Given the description of an element on the screen output the (x, y) to click on. 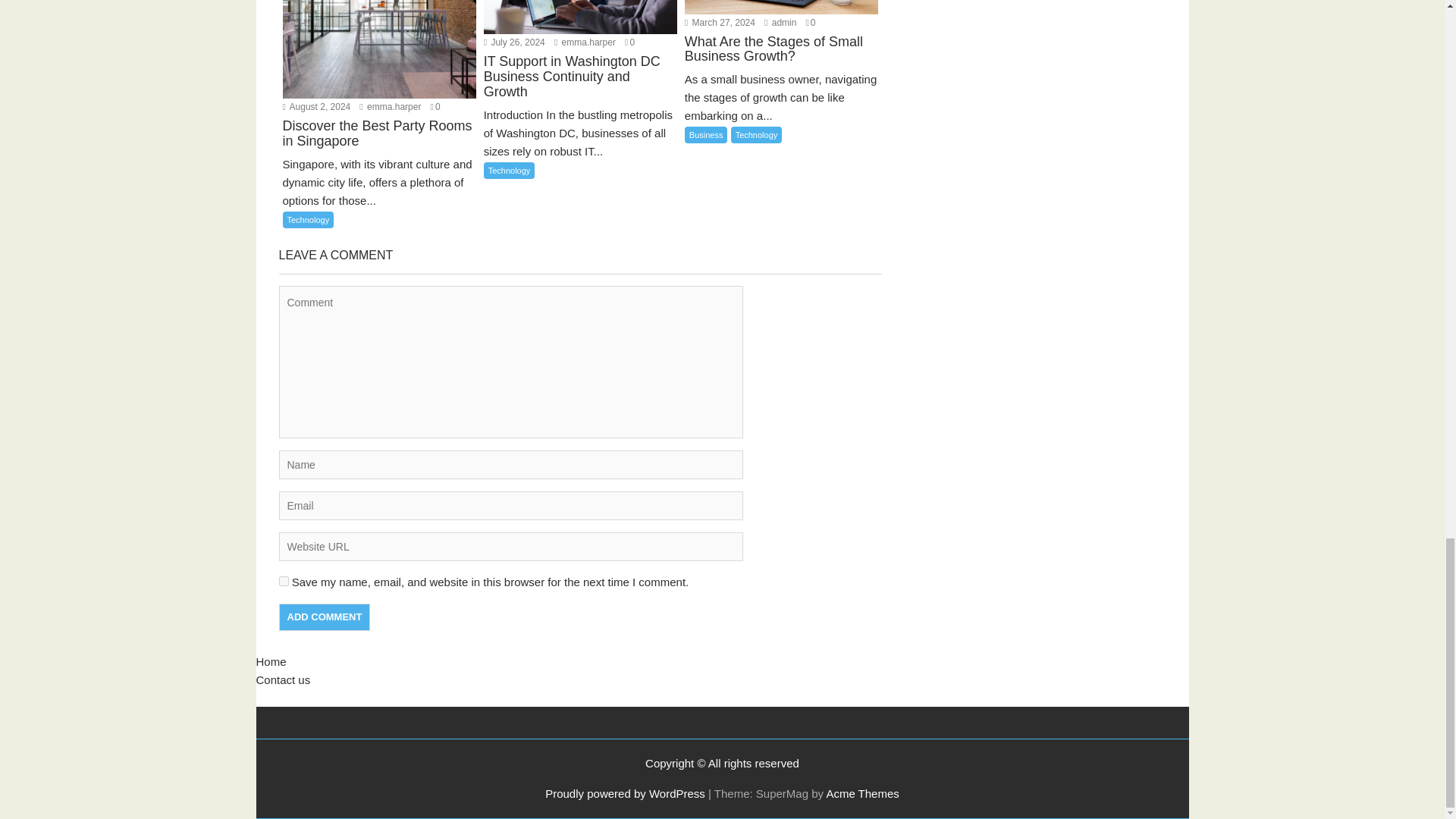
0 (629, 41)
emma.harper (389, 106)
emma.harper (584, 41)
IT Support in Washington DC Business Continuity and Growth (580, 86)
Discover the Best Party Rooms in Singapore (379, 143)
emma.harper (389, 106)
Technology (307, 219)
July 26, 2024 (513, 41)
emma.harper (584, 41)
Add Comment (325, 616)
August 2, 2024 (316, 106)
0 (435, 106)
yes (283, 581)
Technology (509, 170)
admin (780, 22)
